Given the description of an element on the screen output the (x, y) to click on. 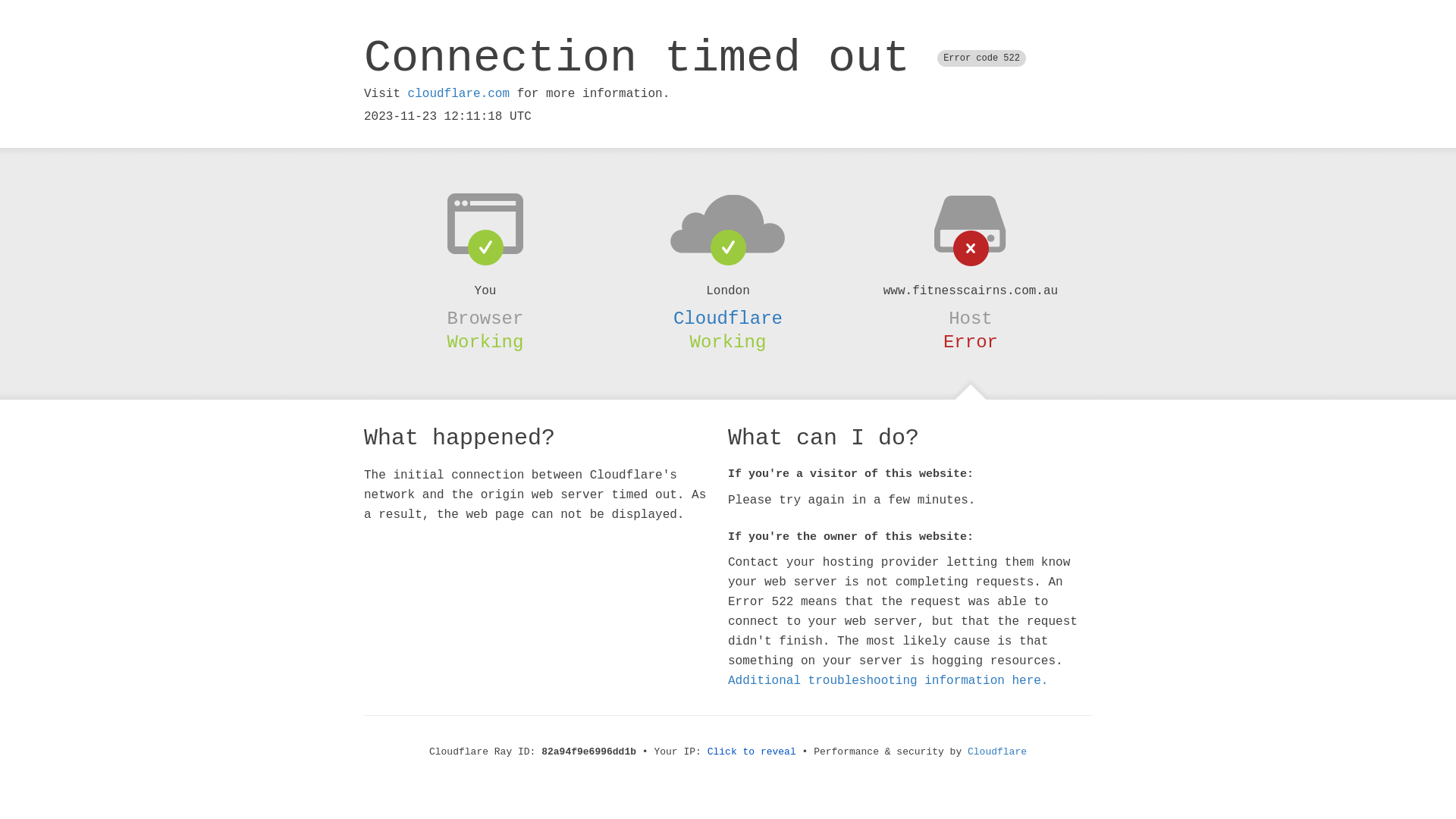
Cloudflare Element type: text (727, 318)
cloudflare.com Element type: text (458, 93)
Additional troubleshooting information here. Element type: text (888, 680)
Click to reveal Element type: text (751, 751)
Cloudflare Element type: text (996, 751)
